Given the description of an element on the screen output the (x, y) to click on. 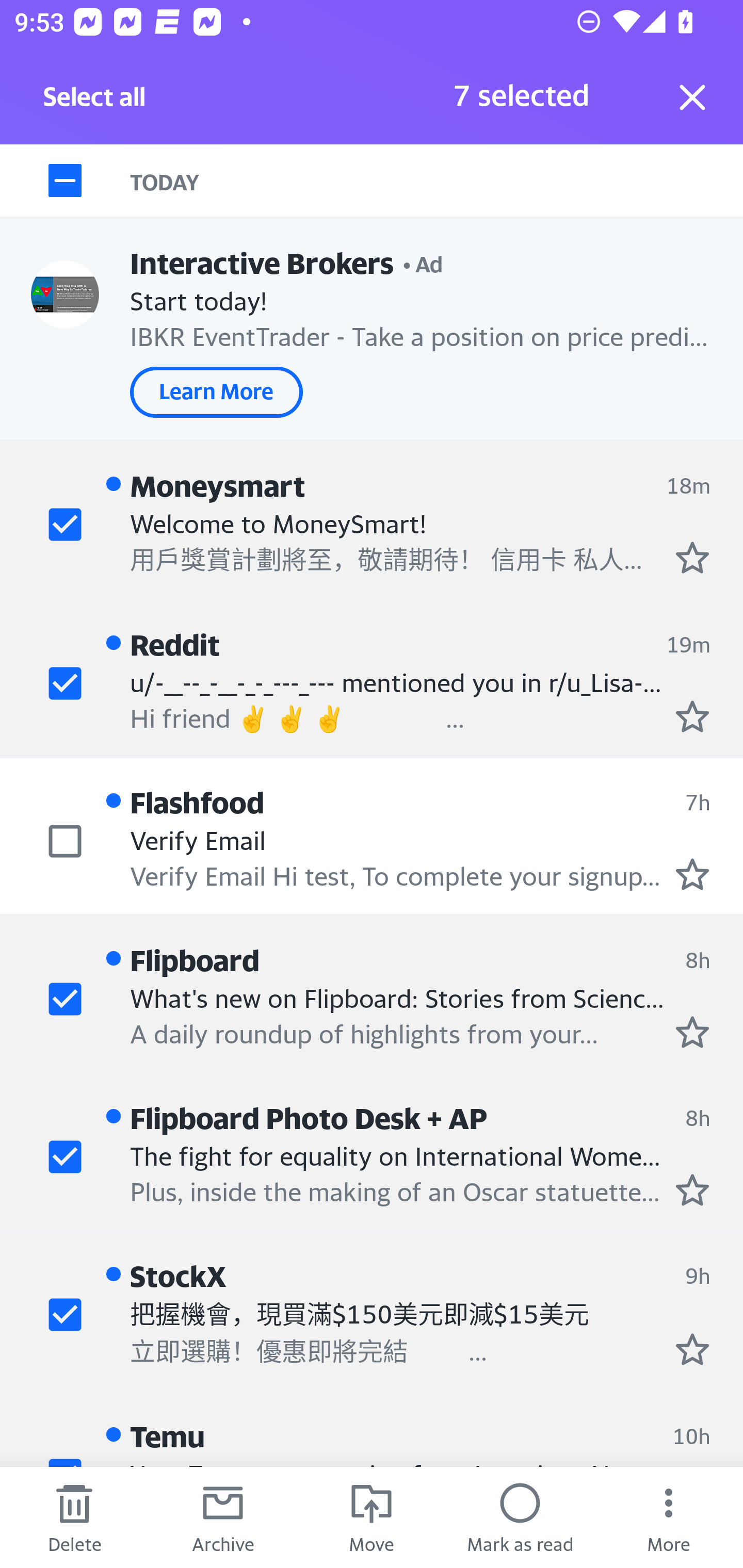
Exit selection mode (692, 97)
Select all (94, 101)
TODAY (436, 180)
• Ad (422, 262)
Mark as starred. (692, 557)
Mark as starred. (692, 715)
Mark as starred. (692, 874)
Mark as starred. (692, 1032)
Mark as starred. (692, 1189)
Mark as starred. (692, 1349)
Delete (74, 1517)
Archive (222, 1517)
Move (371, 1517)
Mark as read (519, 1517)
More (668, 1517)
